Given the description of an element on the screen output the (x, y) to click on. 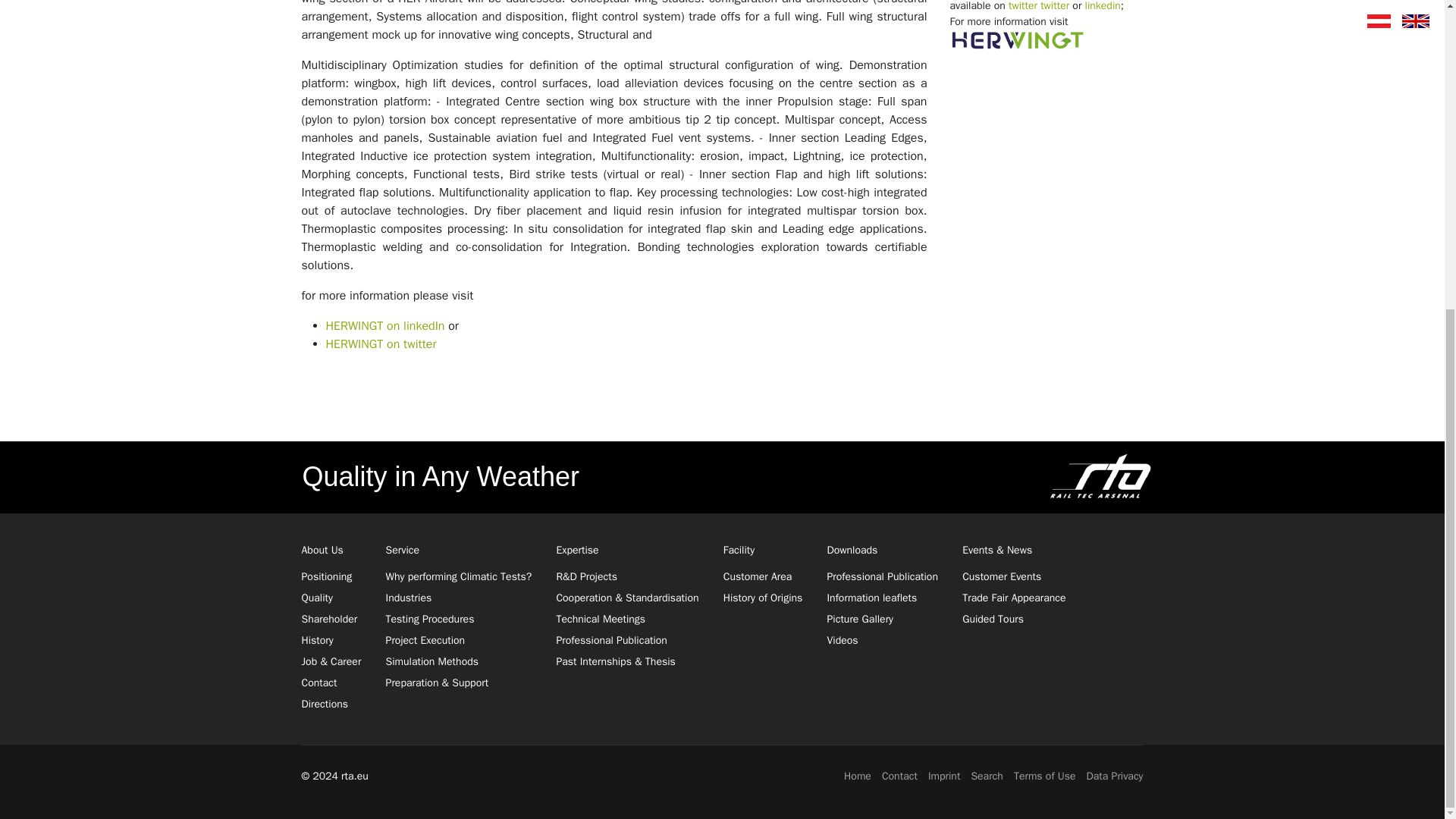
Contact (319, 682)
Expertise (627, 549)
Why performing Climatic Tests? (458, 576)
twitter twitter (1040, 6)
HERWINGT on linkedIn (385, 325)
Service (458, 549)
Simulation Methods (432, 661)
Directions (325, 703)
About Us (331, 549)
linkedin (1102, 6)
Technical Meetings (600, 618)
Testing Procedures (429, 618)
Project Execution (425, 640)
History (317, 640)
Positioning (326, 576)
